Given the description of an element on the screen output the (x, y) to click on. 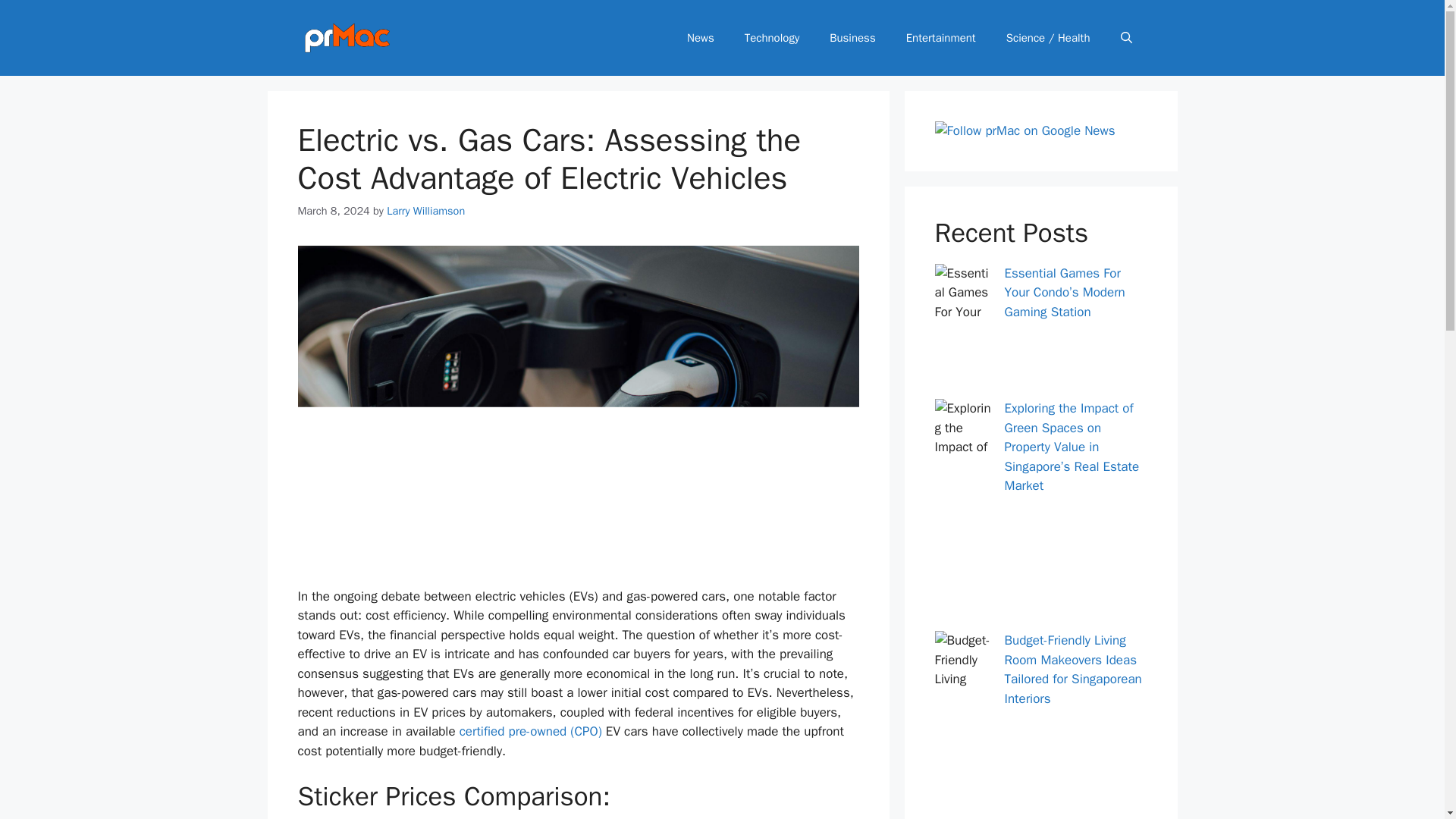
Larry Williamson (425, 210)
Business (852, 37)
News (700, 37)
prMac (346, 36)
prMac (346, 37)
Technology (772, 37)
Entertainment (941, 37)
View all posts by Larry Williamson (425, 210)
